Given the description of an element on the screen output the (x, y) to click on. 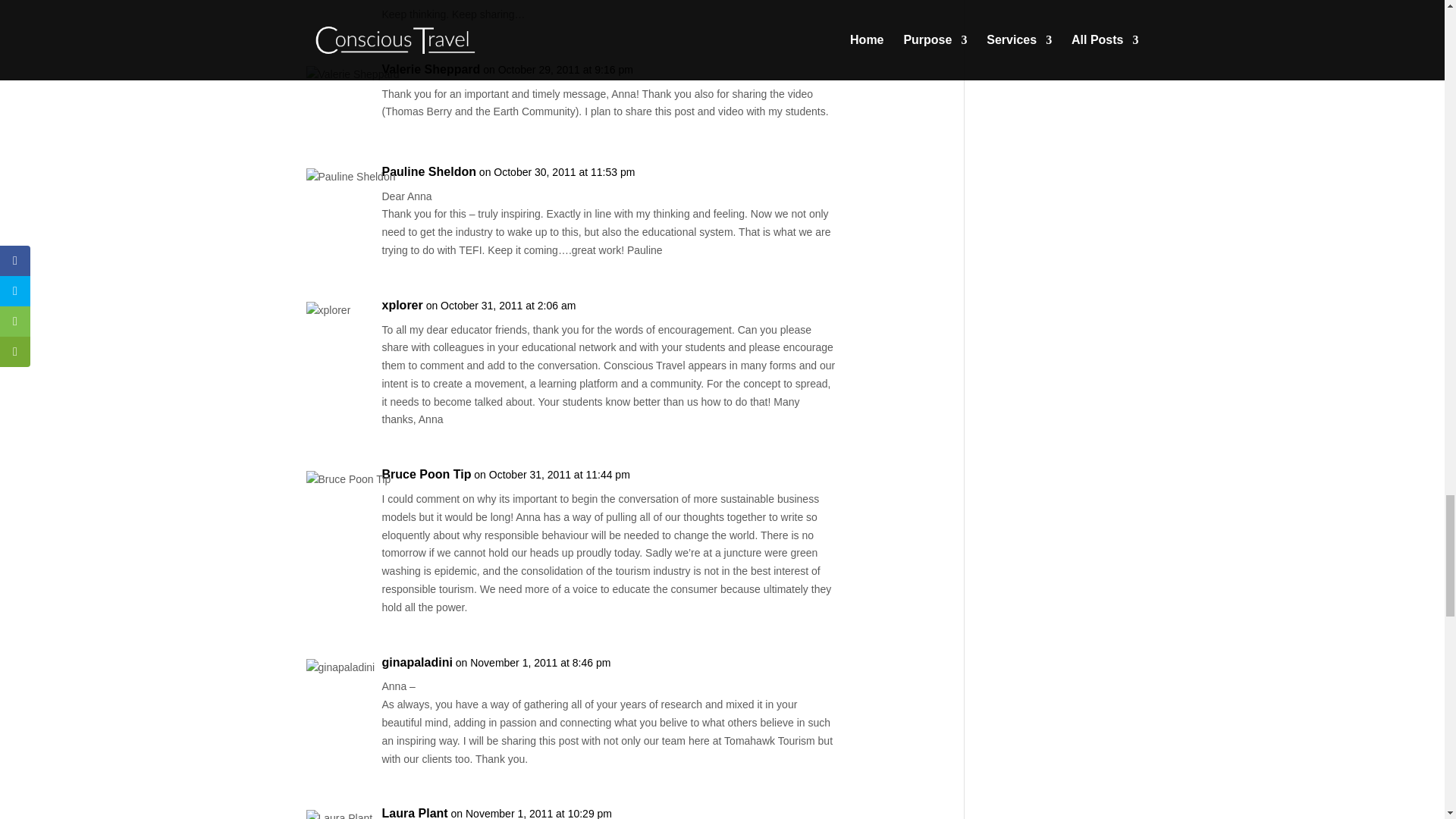
xplorer (402, 305)
Bruce Poon Tip (426, 475)
ginapaladini (416, 662)
